Given the description of an element on the screen output the (x, y) to click on. 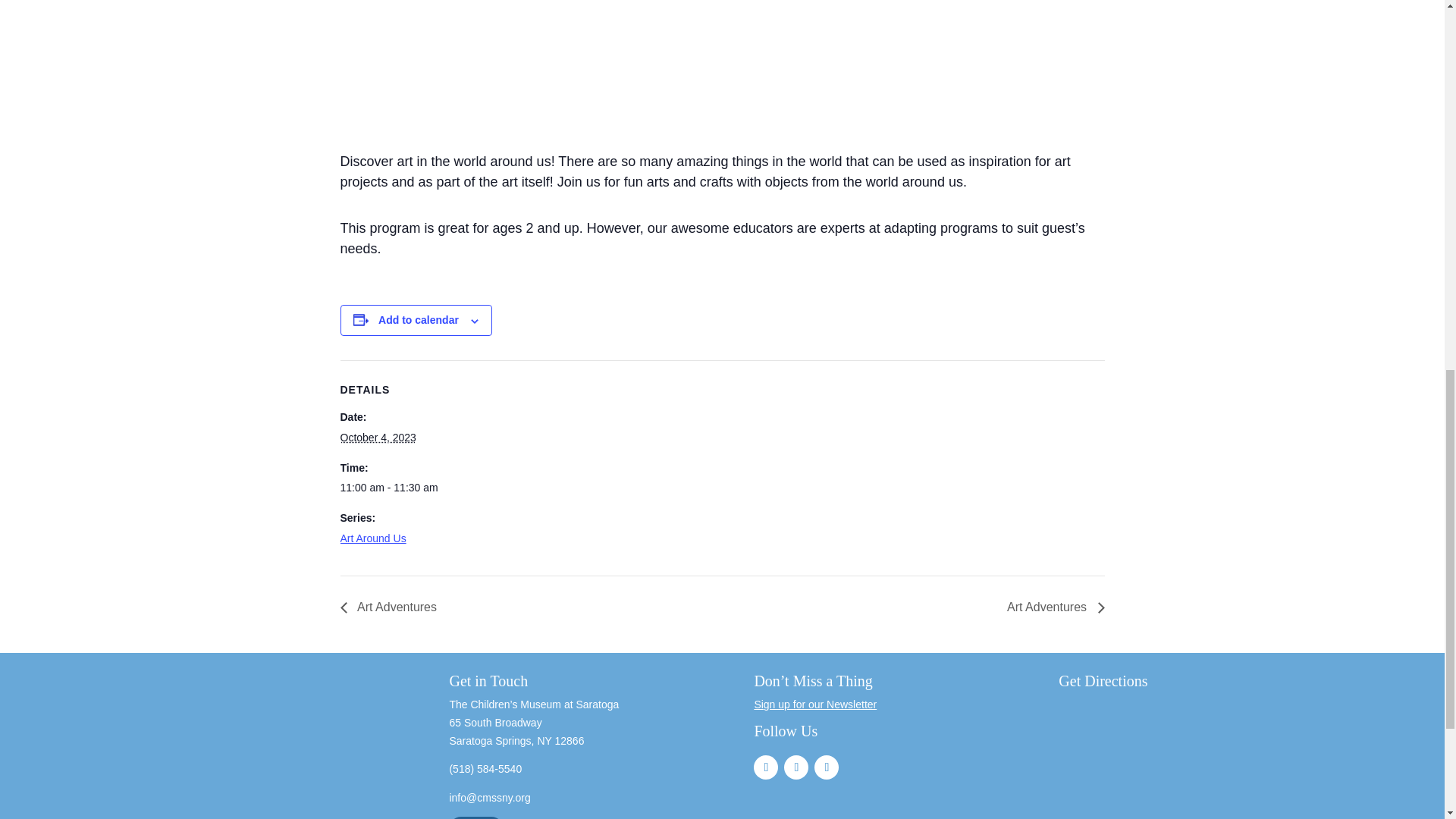
Follow on Instagram (796, 767)
Follow on Facebook (765, 767)
Art Around Us (372, 538)
Follow on X (825, 767)
2023-10-04 (403, 488)
2023-10-04 (376, 437)
